Given the description of an element on the screen output the (x, y) to click on. 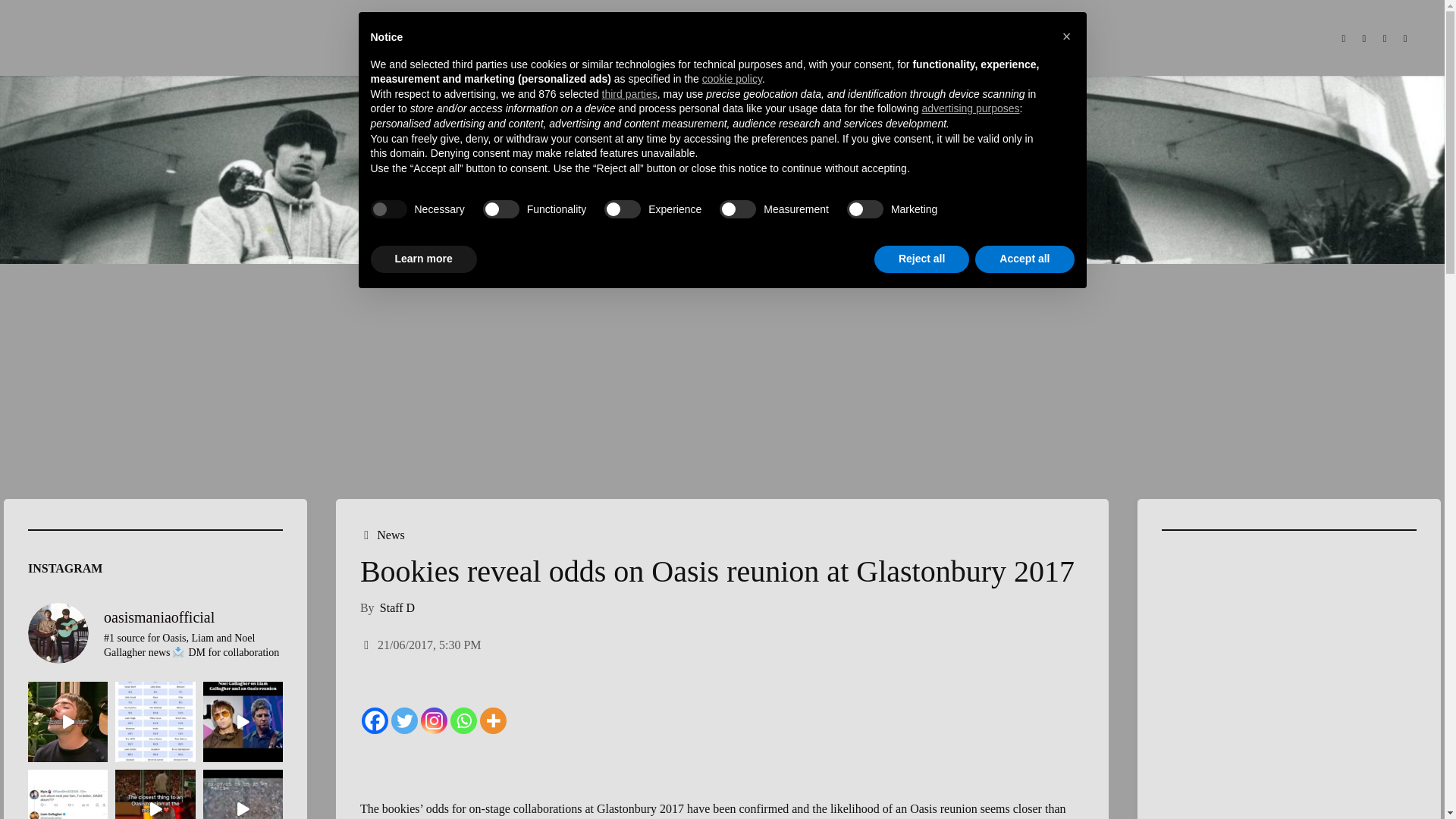
Instagram (1384, 38)
Date (366, 644)
Youtube (1404, 38)
View all posts by Staff D (395, 607)
false (865, 208)
Twitter (404, 711)
More (493, 711)
Staff D (395, 607)
Instagram (433, 711)
false (501, 208)
Categories (366, 534)
Whatsapp (463, 711)
Facebook (1343, 38)
Twitter (1364, 38)
Facebook (374, 711)
